Given the description of an element on the screen output the (x, y) to click on. 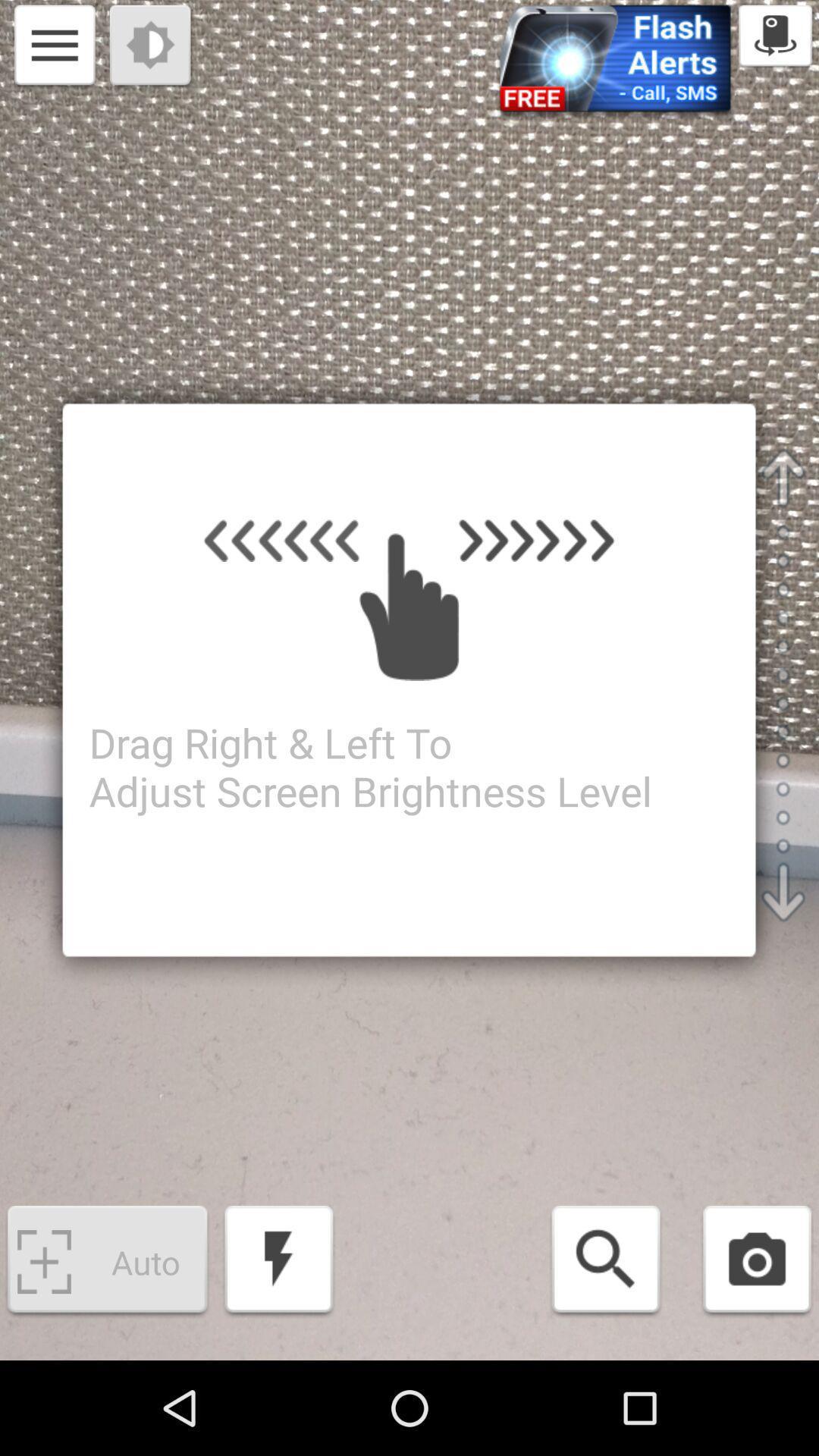
screen brightness (151, 47)
